Given the description of an element on the screen output the (x, y) to click on. 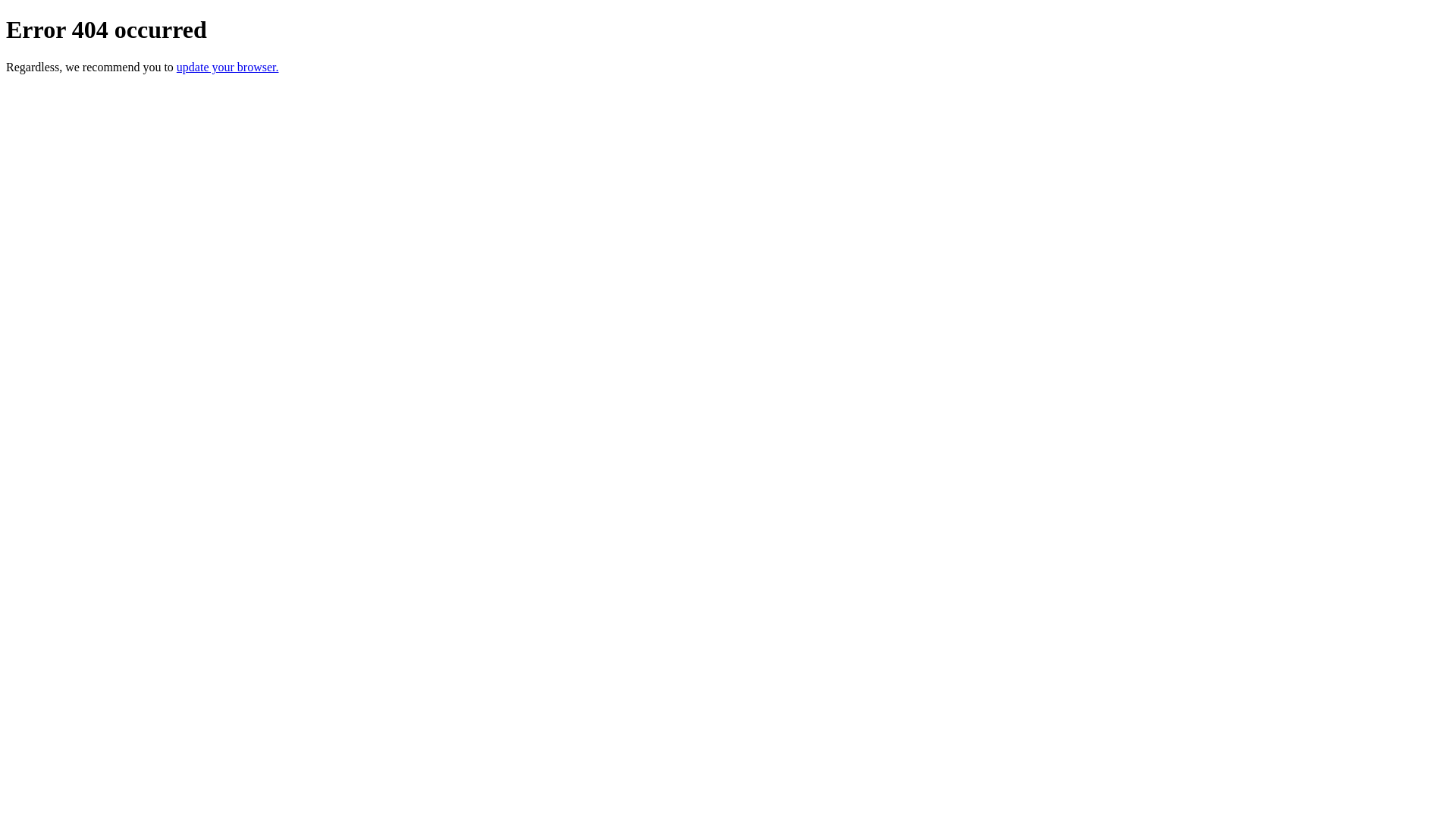
update your browser. Element type: text (227, 66)
